Given the description of an element on the screen output the (x, y) to click on. 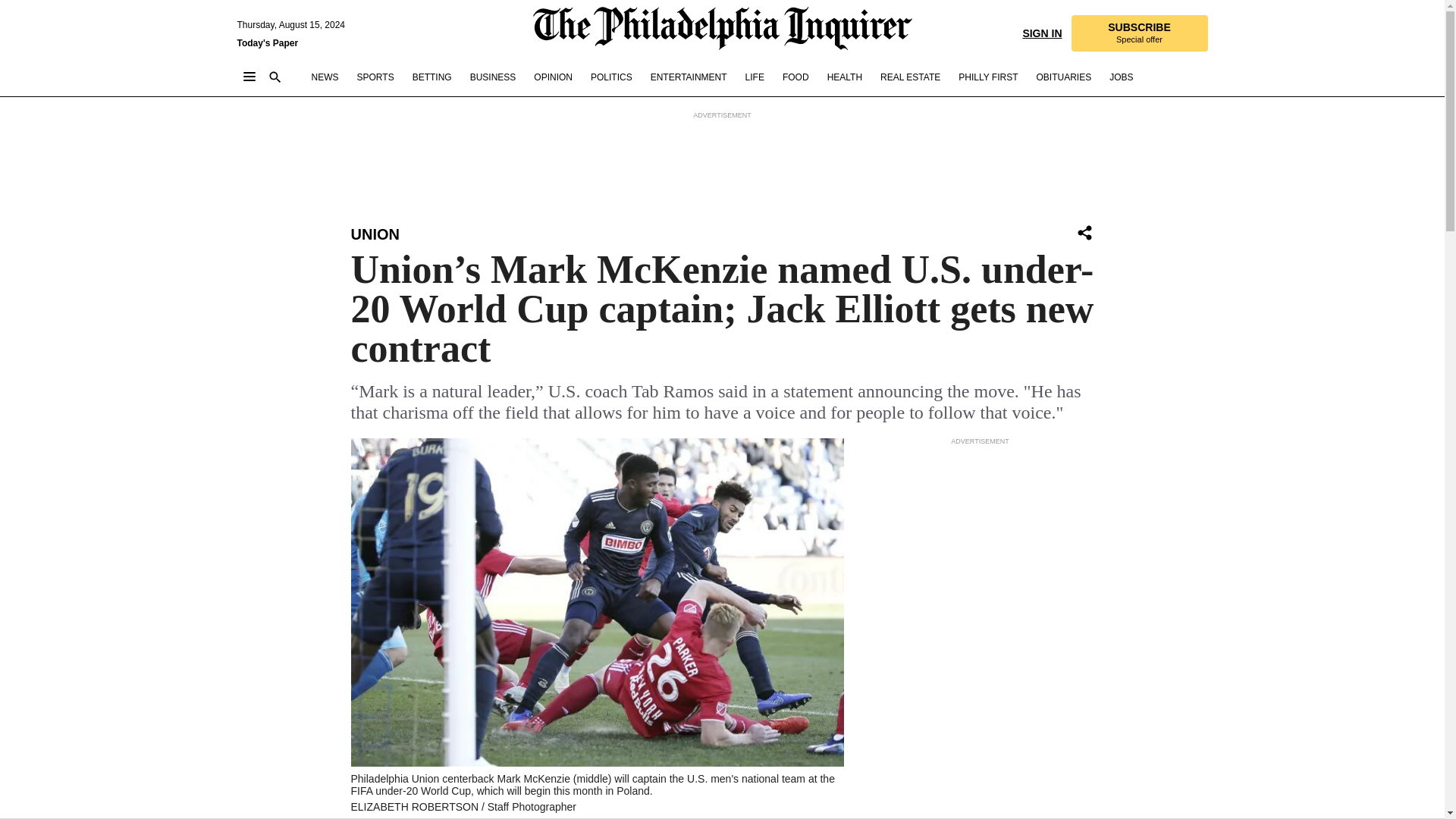
OBITUARIES (1062, 77)
BETTING (431, 77)
OPINION (553, 77)
REAL ESTATE (910, 77)
Union (374, 234)
JOBS (1120, 77)
LIFE (754, 77)
UNION (374, 234)
SPORTS (375, 77)
SIGN IN (1041, 32)
